Given the description of an element on the screen output the (x, y) to click on. 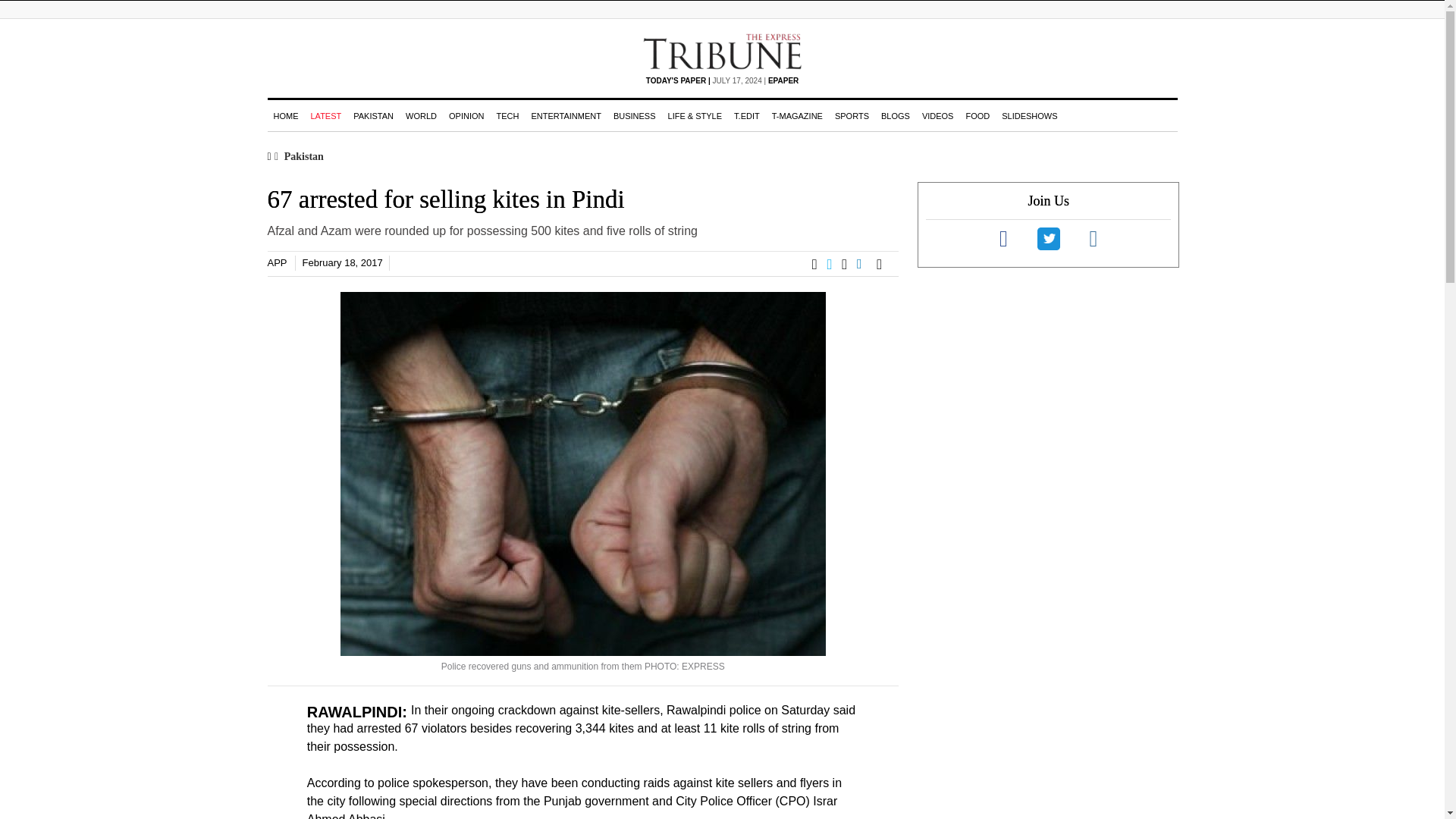
EMAIL (883, 264)
ENTERTAINMENT (565, 114)
HOME (285, 114)
T.EDIT (746, 114)
T-MAGAZINE (796, 114)
BLOGS (895, 114)
OPINION (465, 114)
EPAPER (782, 80)
PAKISTAN (372, 114)
LATEST (325, 114)
VIDEOS (937, 114)
FOOD (977, 114)
WORLD (420, 114)
BUSINESS (634, 114)
